Given the description of an element on the screen output the (x, y) to click on. 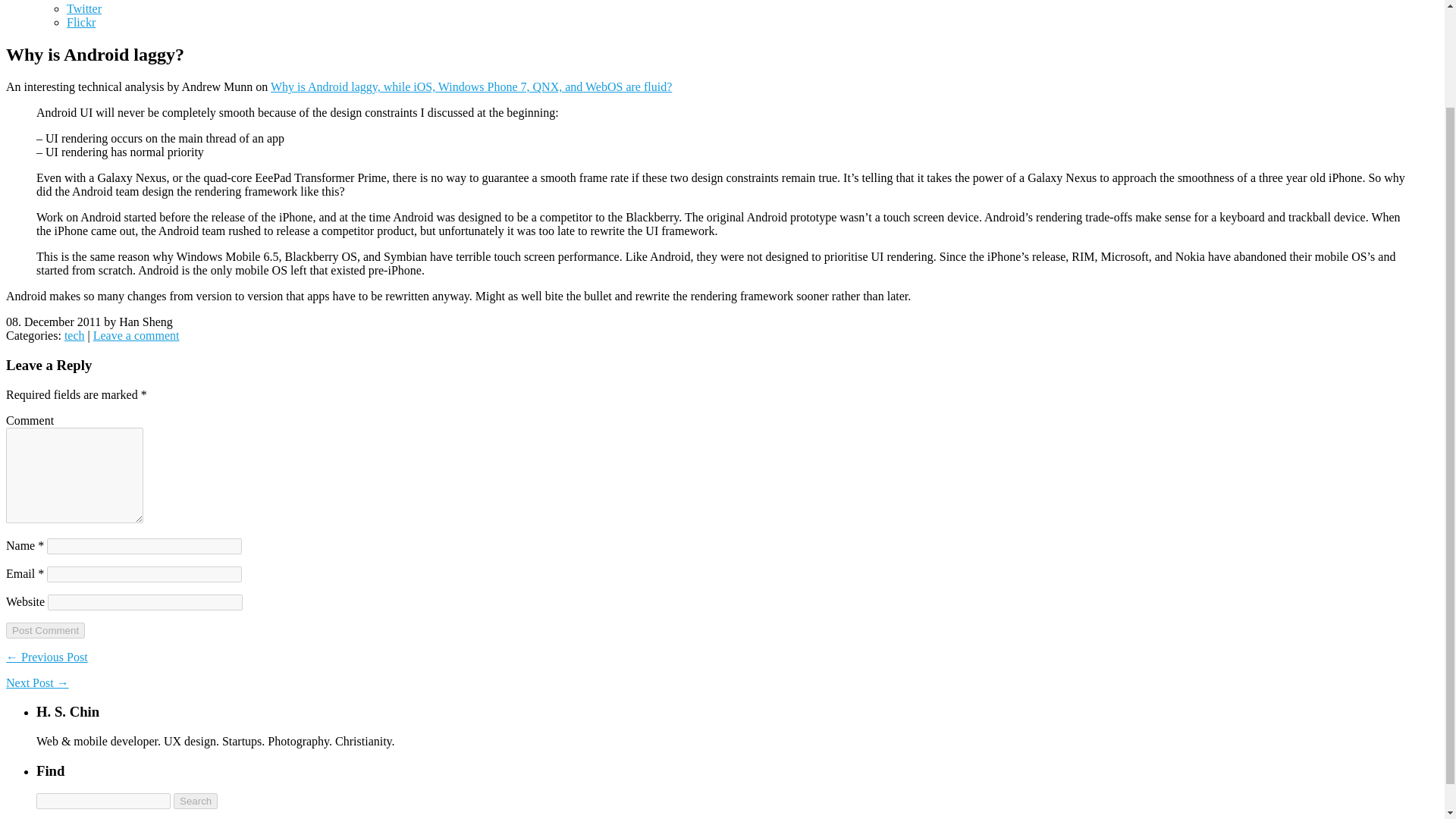
Flickr (81, 21)
Leave a comment (136, 335)
Search (194, 801)
tech (74, 335)
Post Comment (44, 630)
Twitter (83, 8)
Post Comment (44, 630)
Search (194, 801)
